Given the description of an element on the screen output the (x, y) to click on. 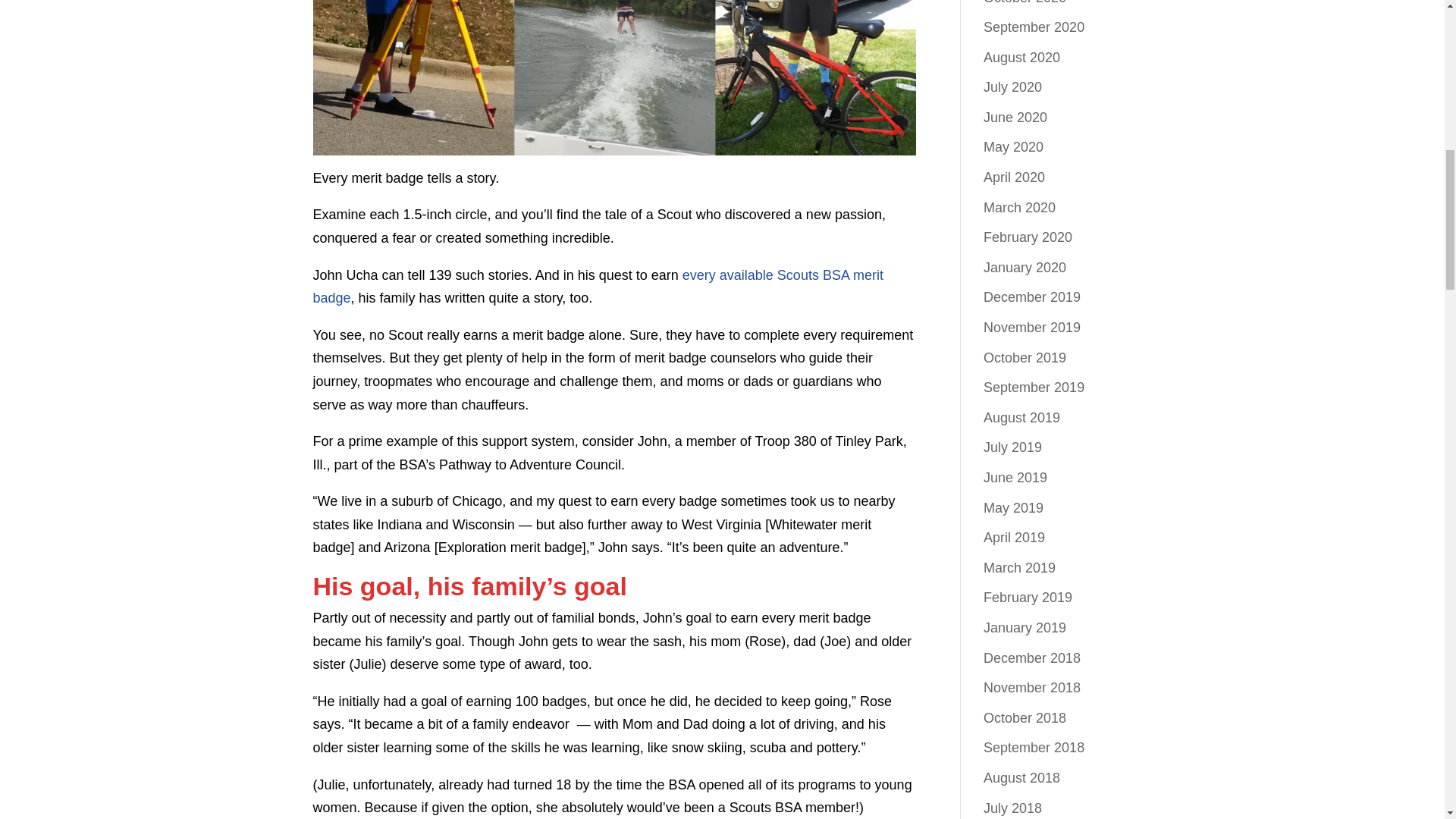
every available Scouts BSA merit badge (597, 286)
